Given the description of an element on the screen output the (x, y) to click on. 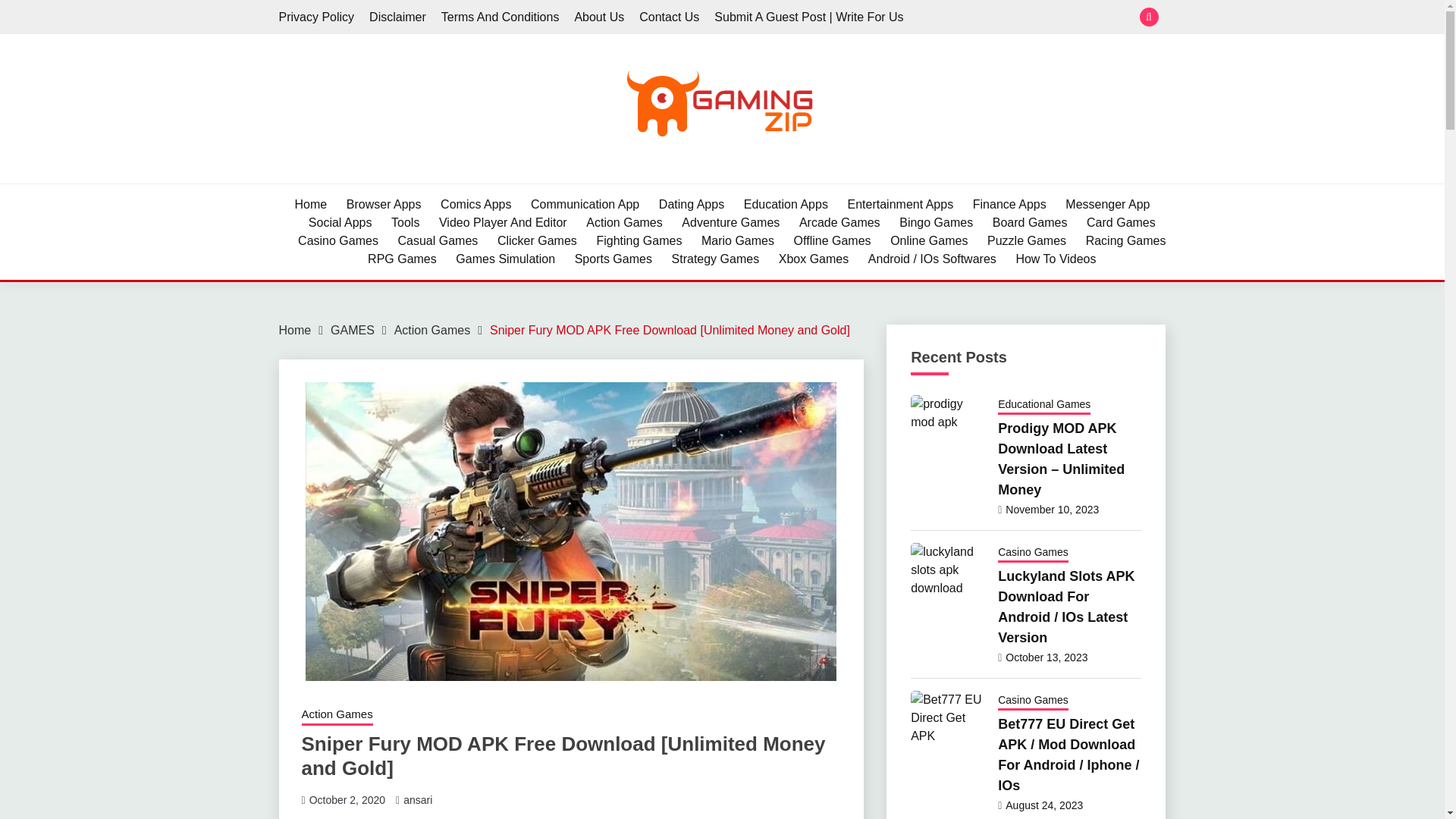
Online Games (928, 240)
Education Apps (786, 204)
Bingo Games (935, 222)
Finance Apps (1009, 204)
About Us (598, 16)
Home (310, 204)
Video Player And Editor (503, 222)
Fighting Games (638, 240)
Social Apps (340, 222)
Comics Apps (476, 204)
